Given the description of an element on the screen output the (x, y) to click on. 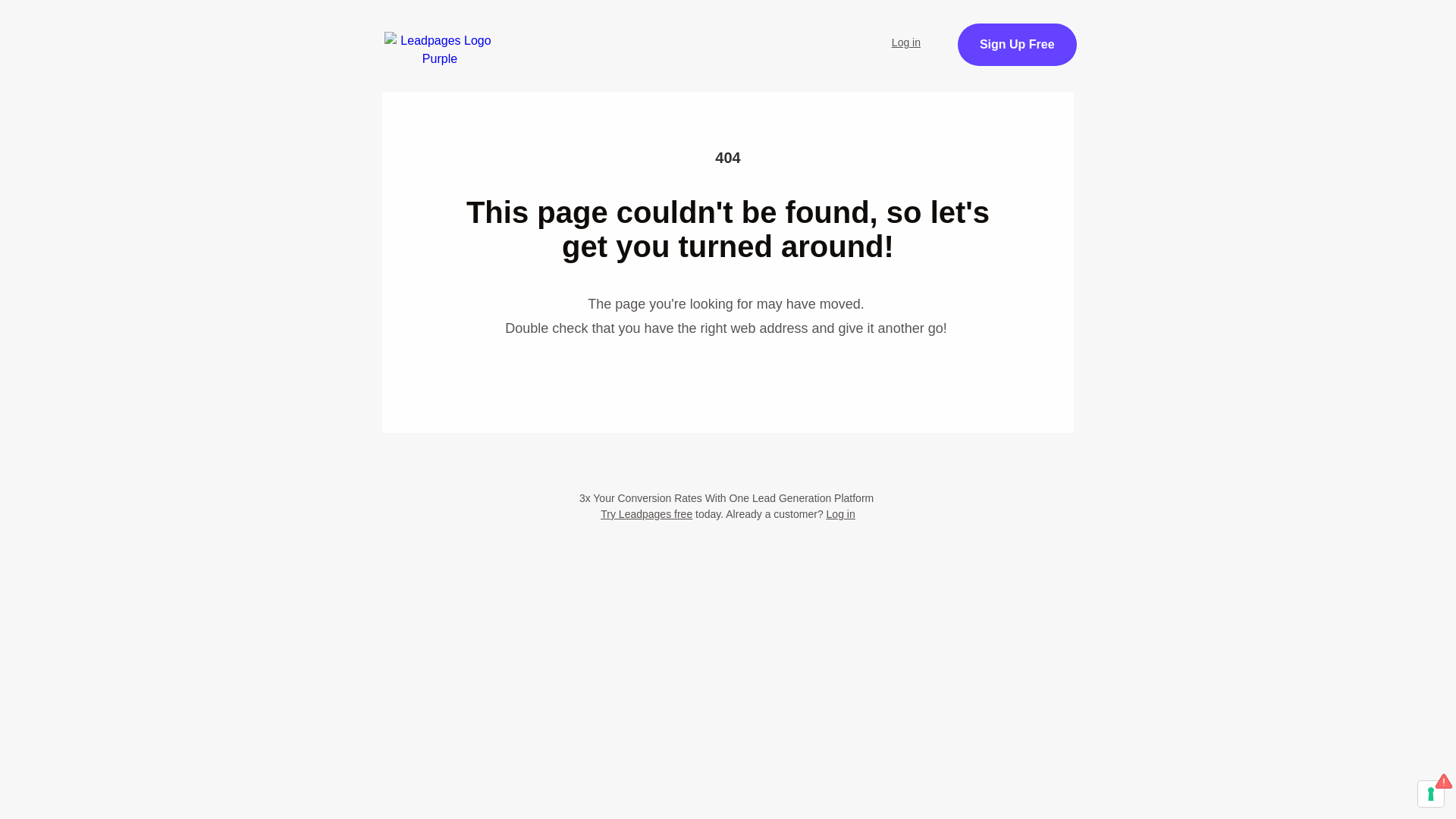
About (1211, 34)
Listings (966, 34)
www.genfamproperties.com (803, 604)
Home (885, 34)
Blog (1139, 34)
Contact (1404, 34)
Podcasts (1056, 34)
Testimonials (1305, 34)
